Given the description of an element on the screen output the (x, y) to click on. 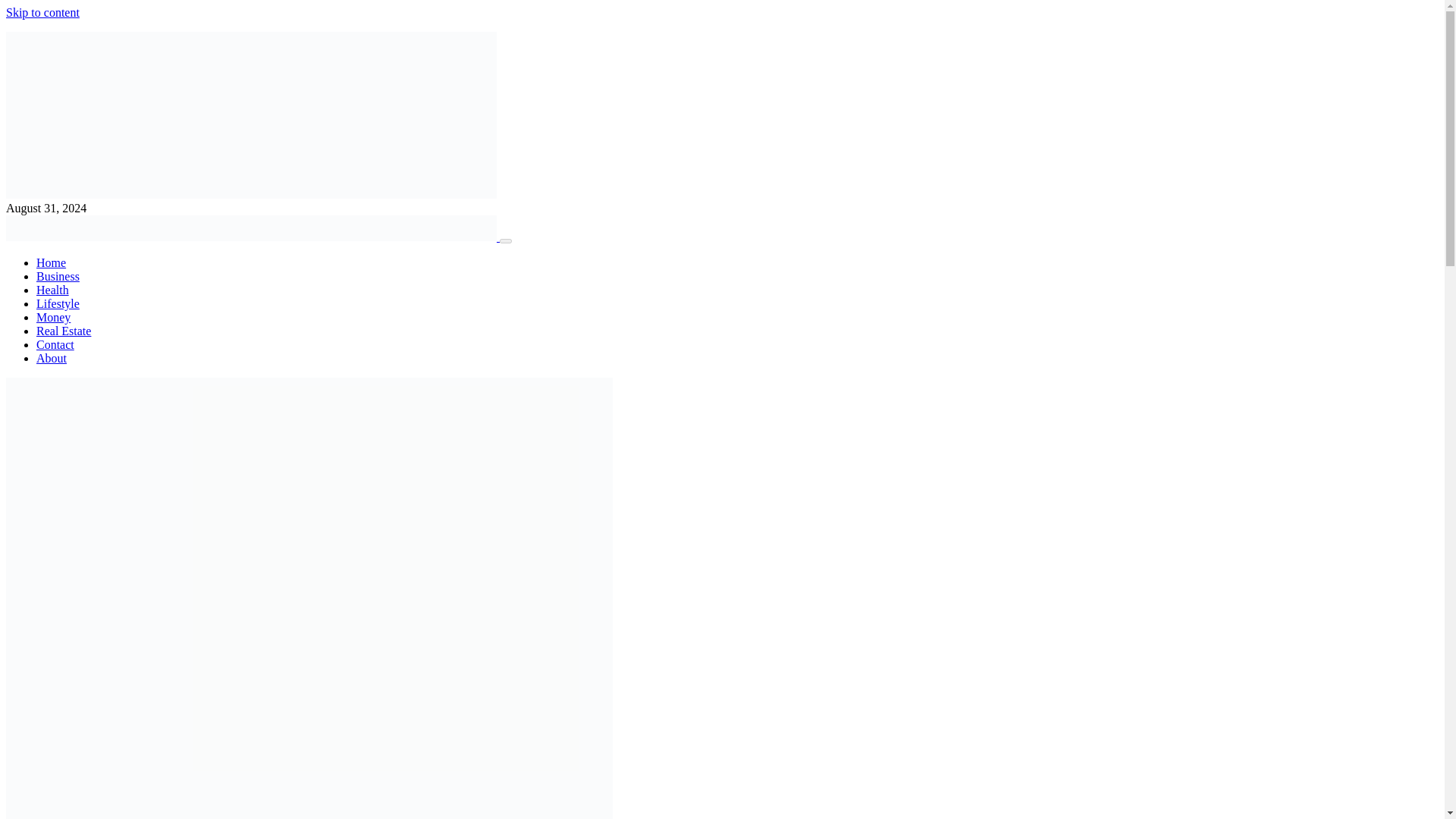
Lifestyle (58, 303)
Health (52, 289)
About (51, 358)
Skip to content (42, 11)
decOsee (252, 236)
Money (52, 317)
Home (50, 262)
Contact (55, 344)
Business (58, 276)
decOsee (250, 194)
